Given the description of an element on the screen output the (x, y) to click on. 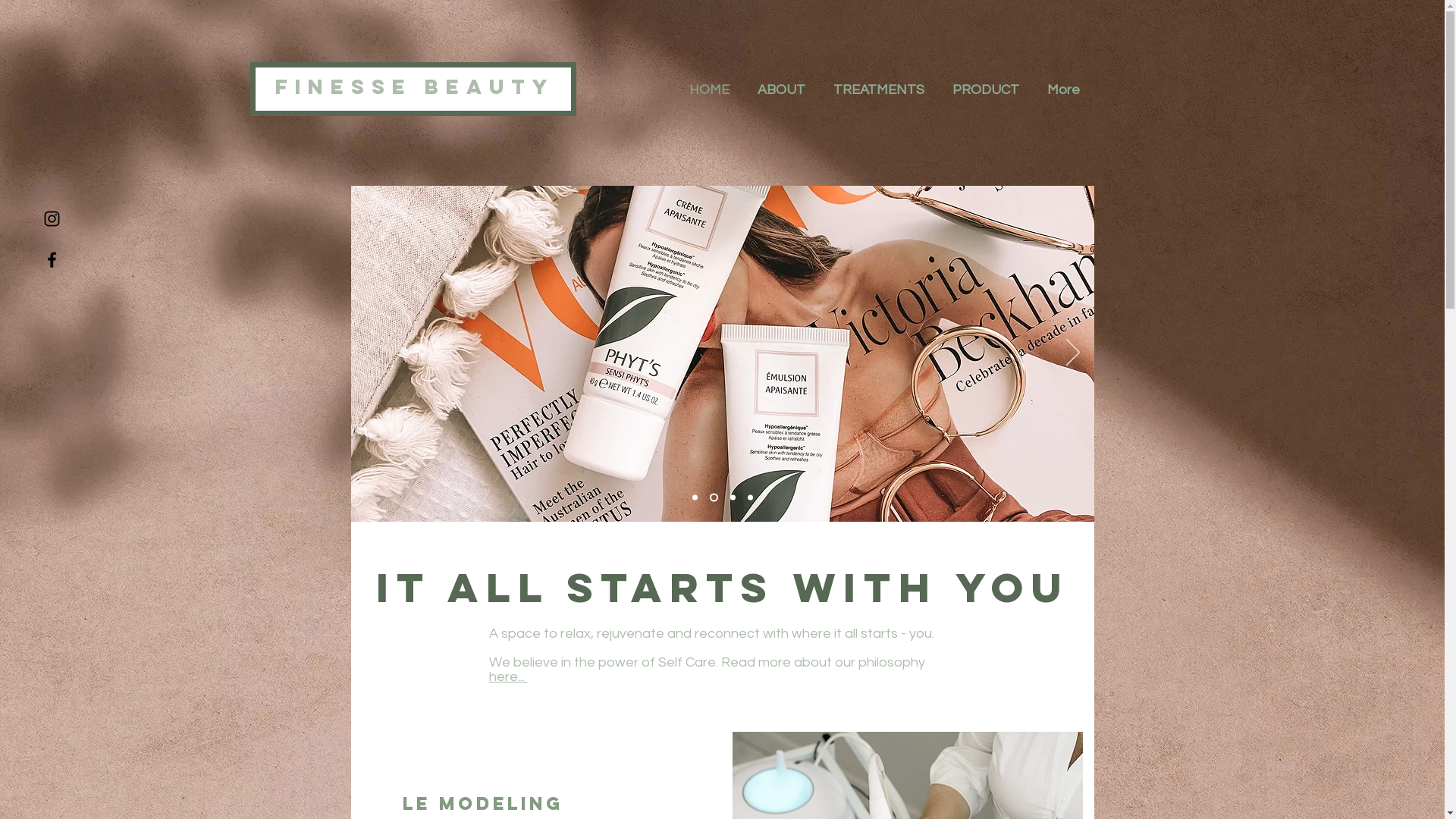
PRODUCT Element type: text (985, 90)
here...  Element type: text (507, 676)
ABOUT Element type: text (781, 90)
FINESSE BEAUTY Element type: text (415, 86)
TREATMENTS Element type: text (878, 90)
HOME Element type: text (708, 90)
